Given the description of an element on the screen output the (x, y) to click on. 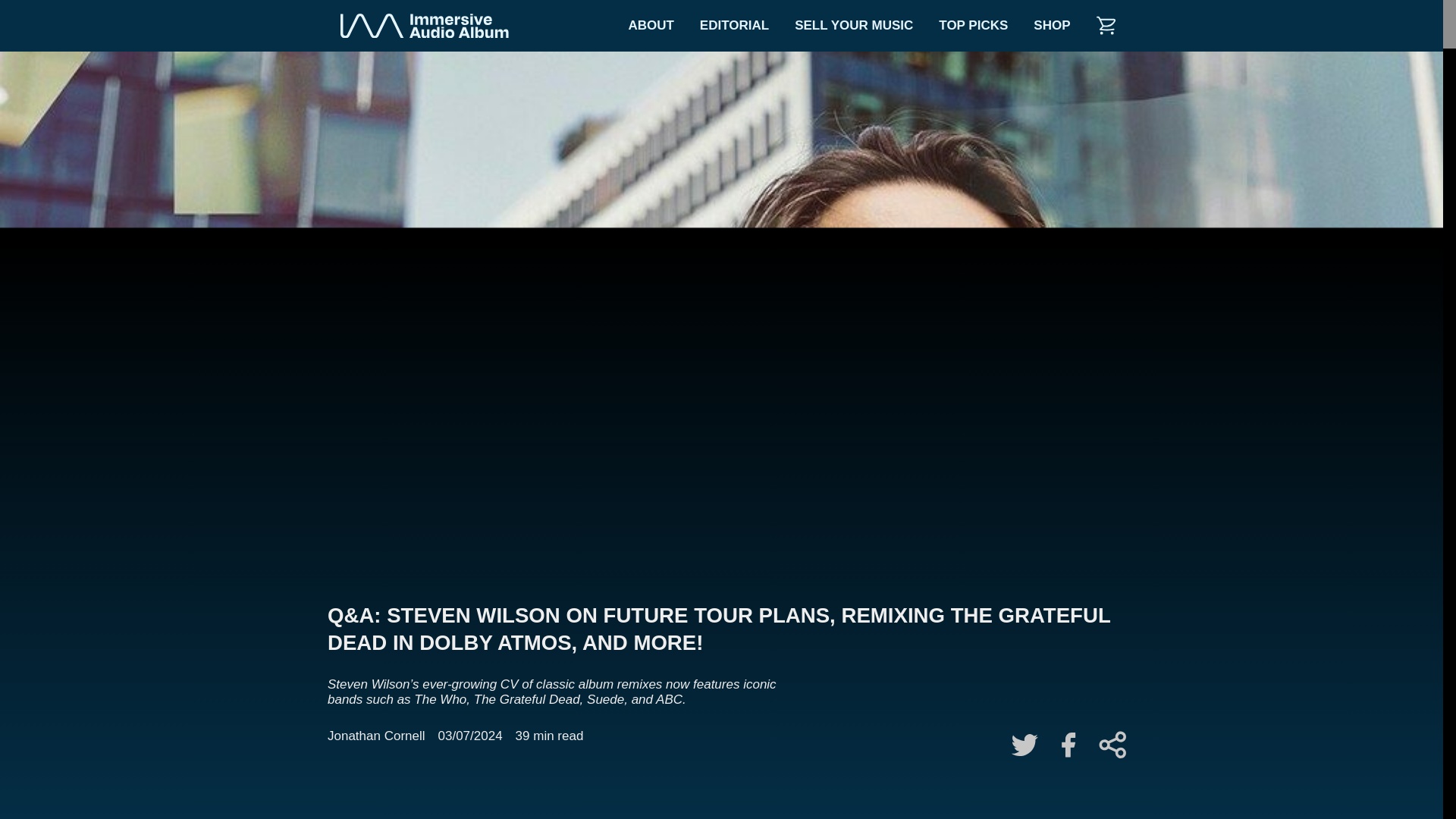
EDITORIAL (734, 25)
TOP PICKS (973, 25)
SELL YOUR MUSIC (853, 25)
SHOP (1051, 25)
ABOUT (649, 25)
